Given the description of an element on the screen output the (x, y) to click on. 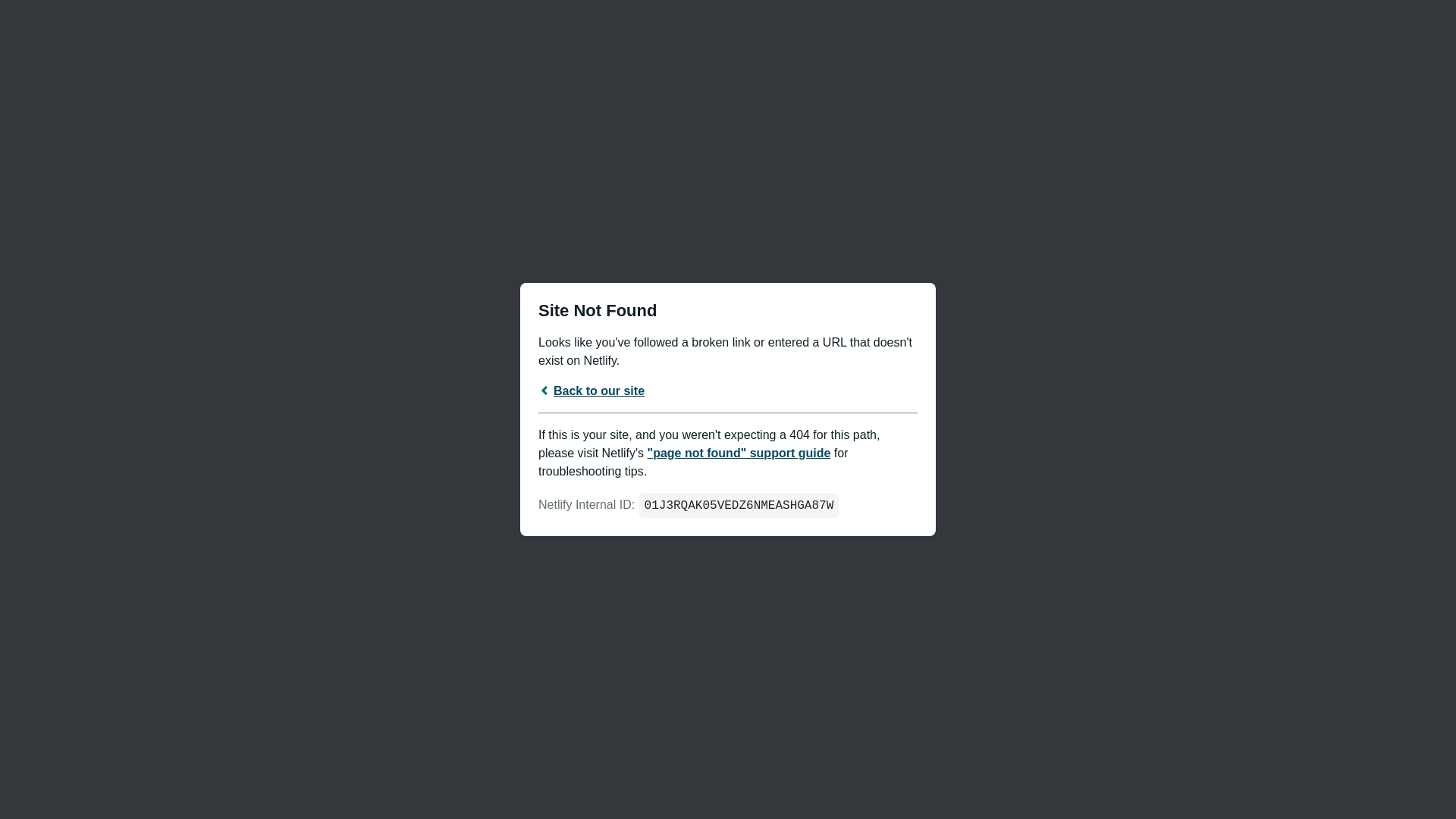
"page not found" support guide (739, 452)
Back to our site (591, 390)
